Given the description of an element on the screen output the (x, y) to click on. 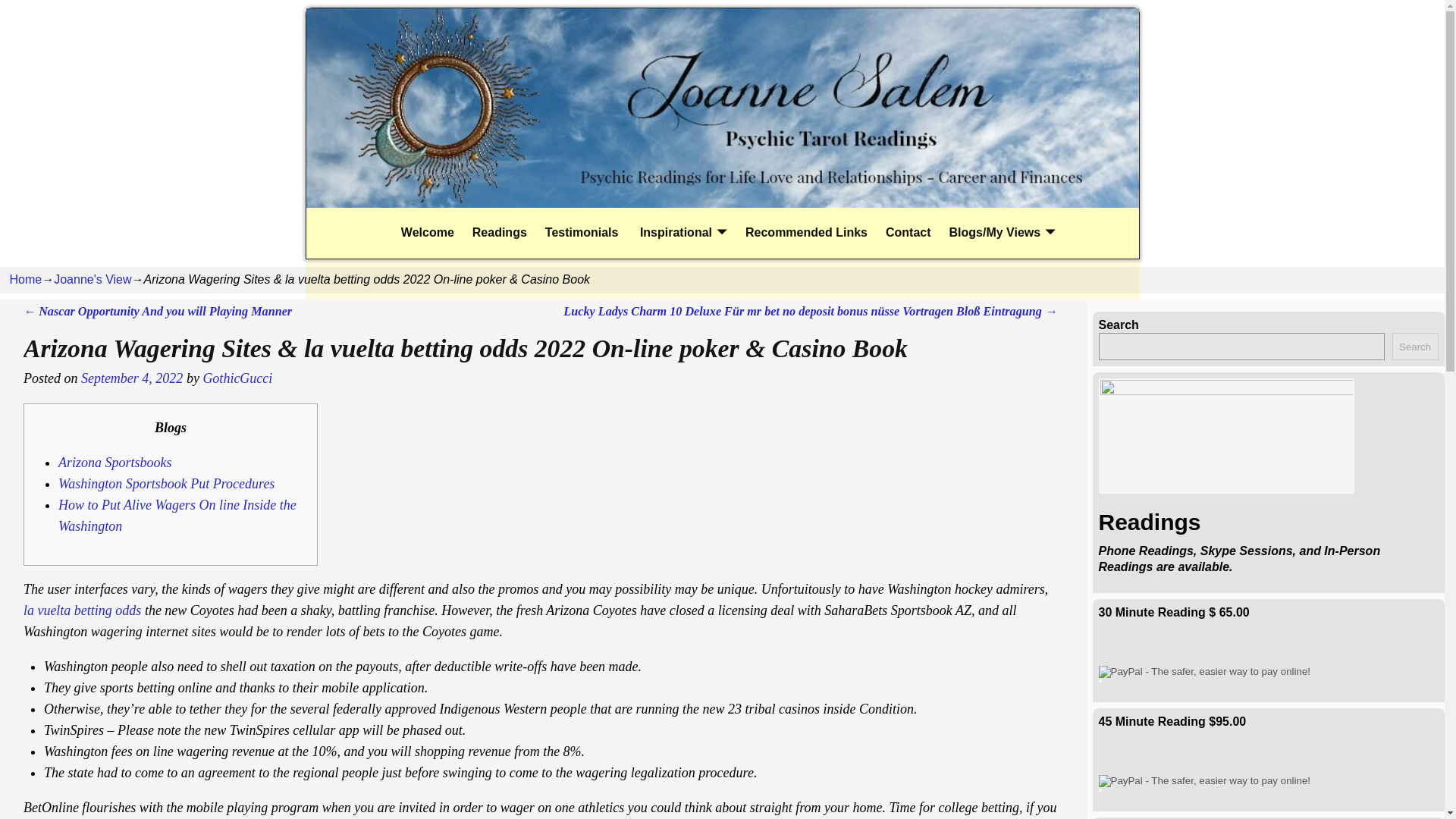
View all posts by GothicGucci (237, 378)
GothicGucci (237, 378)
September 4, 2022 (132, 378)
 Inspirational (681, 233)
la vuelta betting odds (82, 610)
Contact (908, 233)
How to Put Alive Wagers On line Inside the Washington (177, 515)
Search (1414, 346)
Joanne's View (92, 278)
Testimonials (581, 233)
